Given the description of an element on the screen output the (x, y) to click on. 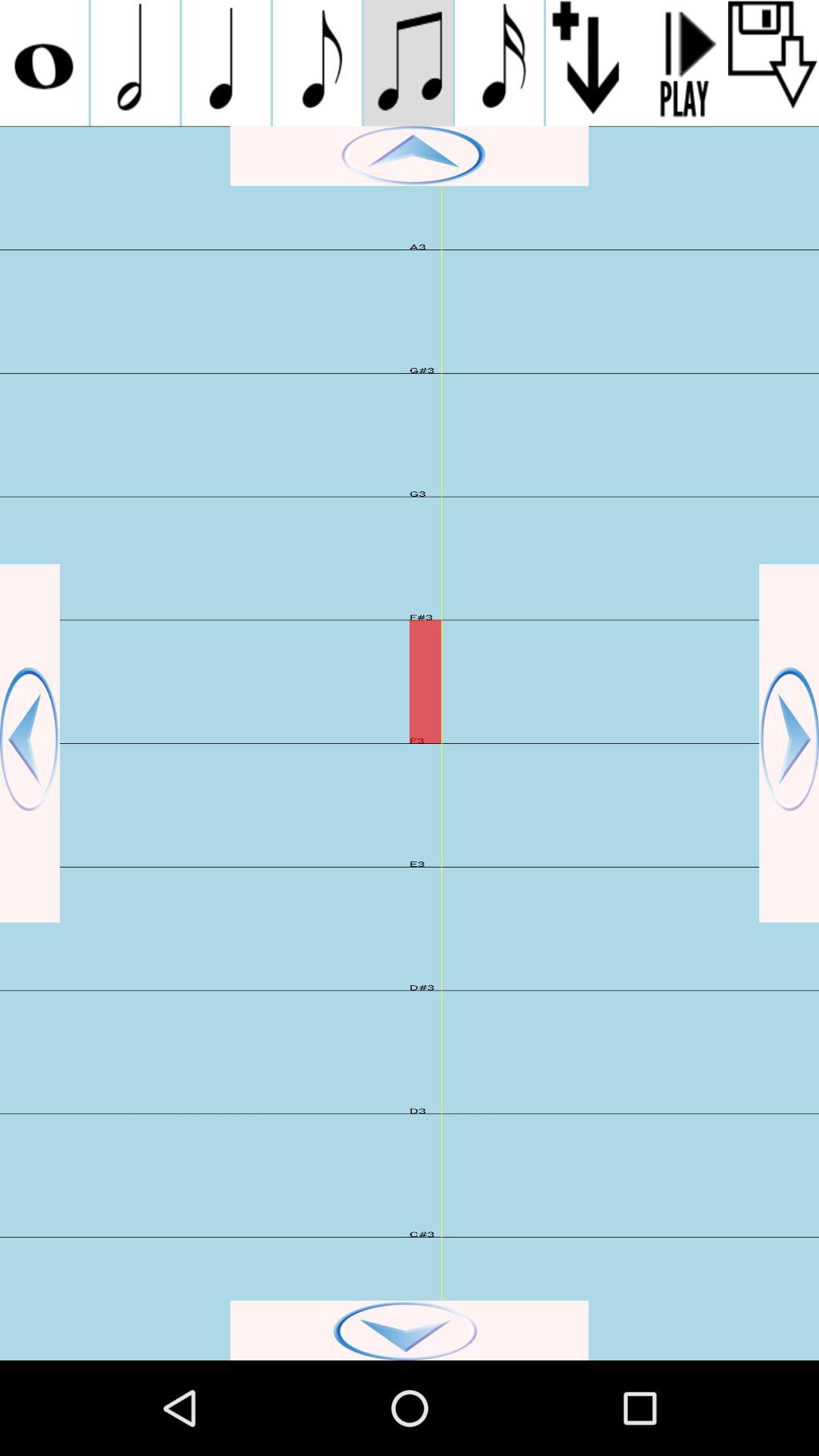
scroll down (773, 63)
